Given the description of an element on the screen output the (x, y) to click on. 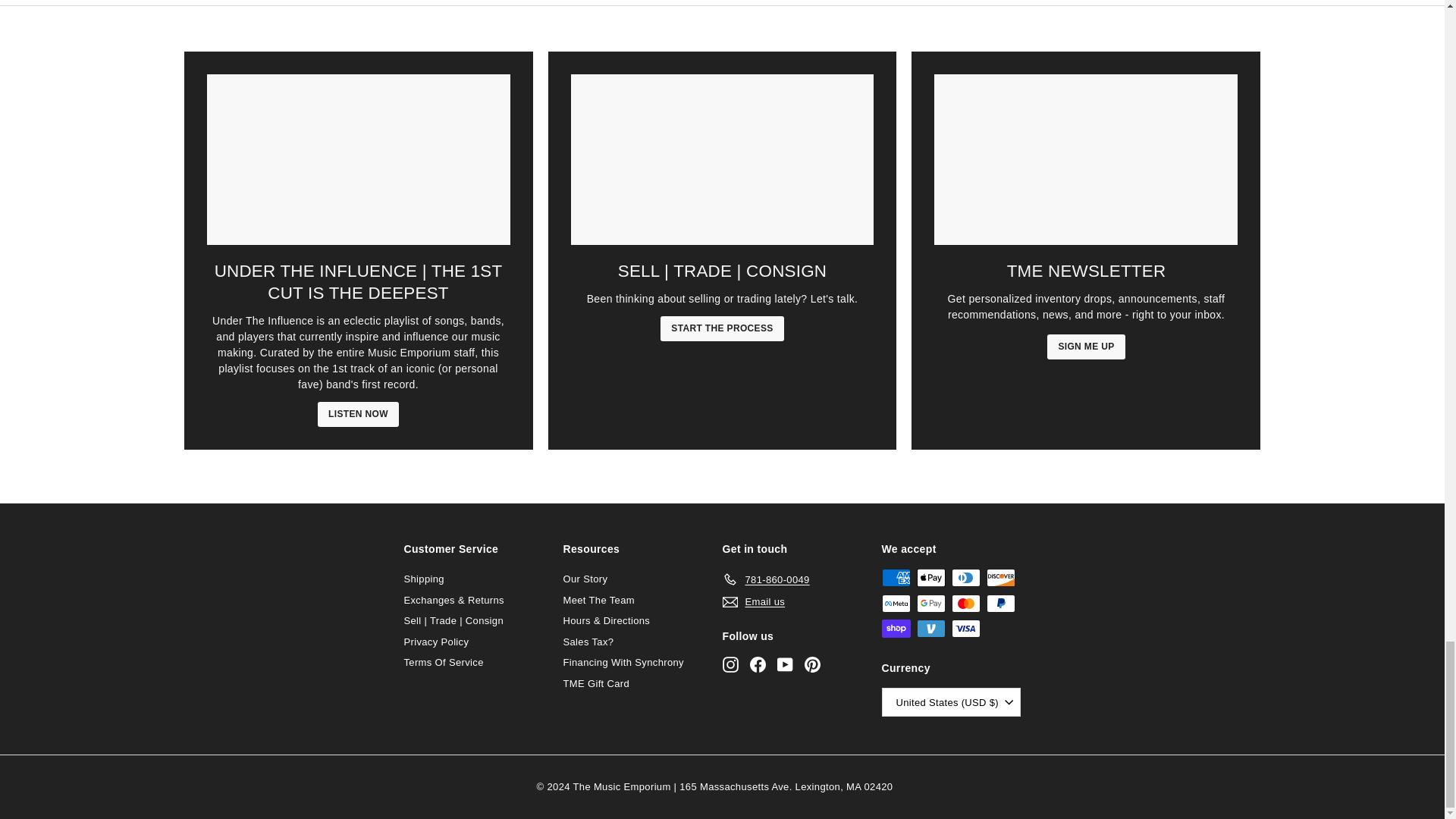
Apple Pay (929, 577)
The Music Emporium on Facebook (757, 663)
Google Pay (929, 603)
American Express (895, 577)
Meta Pay (895, 603)
The Music Emporium on Instagram (730, 663)
Diners Club (964, 577)
PayPal (999, 603)
Mastercard (964, 603)
The Music Emporium on YouTube (784, 663)
The Music Emporium on Pinterest (811, 663)
Discover (999, 577)
